Given the description of an element on the screen output the (x, y) to click on. 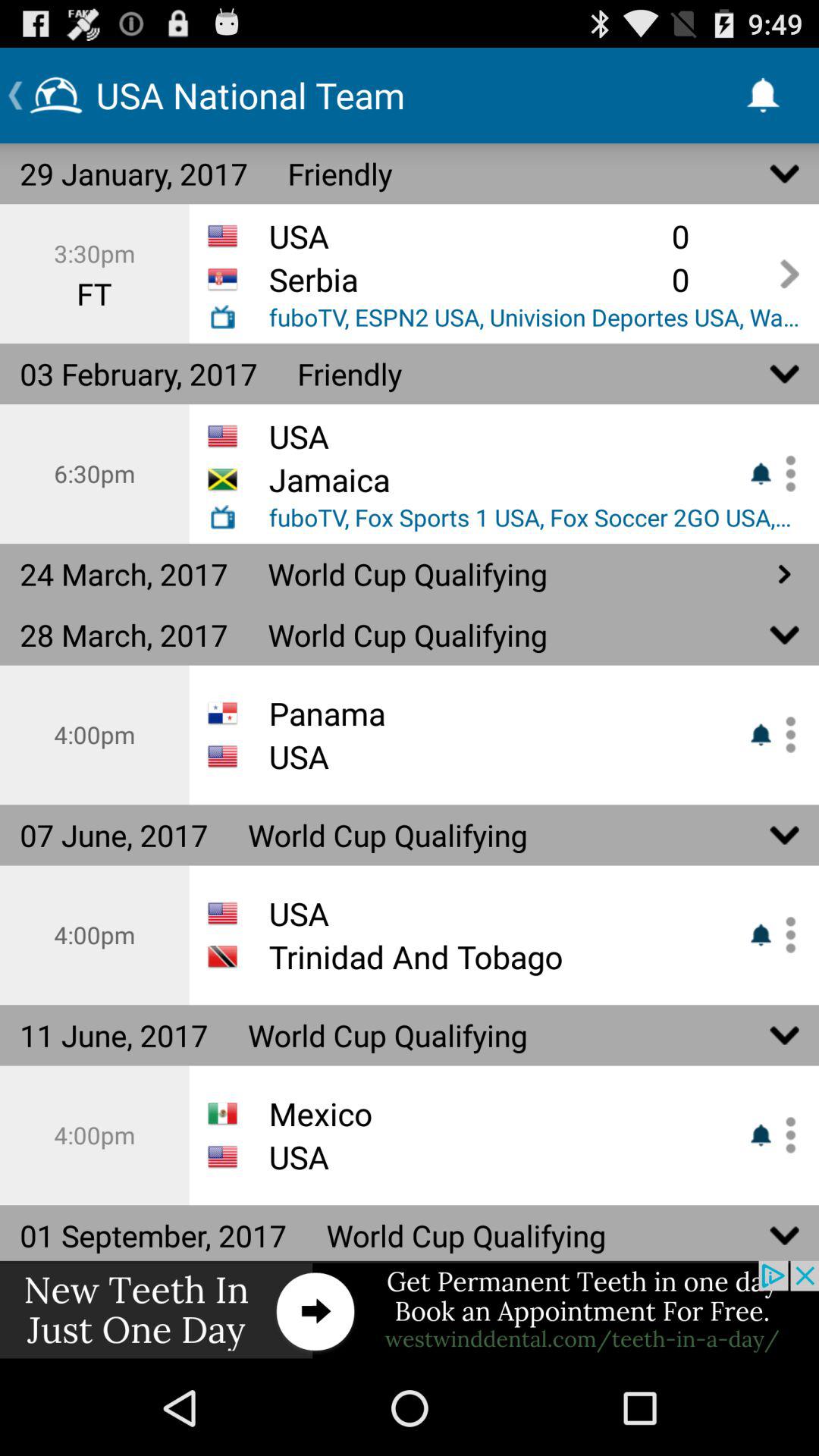
like share more (785, 734)
